Given the description of an element on the screen output the (x, y) to click on. 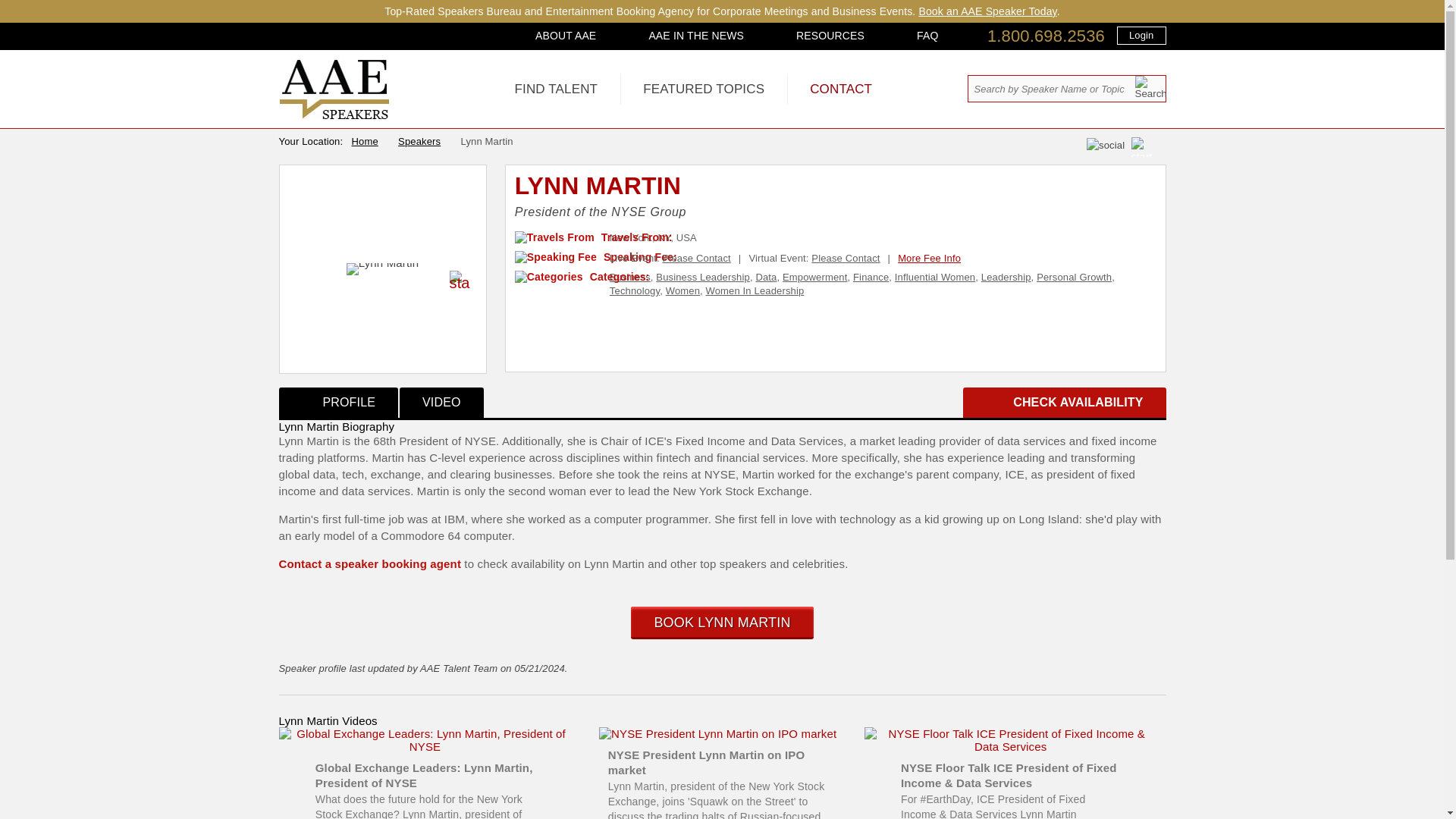
1.800.698.2536 (1046, 35)
AAE IN THE NEWS (695, 34)
RESOURCES (829, 34)
FAQ (927, 34)
Login (1141, 35)
ABOUT AAE (565, 34)
Book an AAE Speaker Today (987, 10)
All American Speakers Bureau and Celebrity Booking Agency (334, 115)
Search (1150, 87)
